Given the description of an element on the screen output the (x, y) to click on. 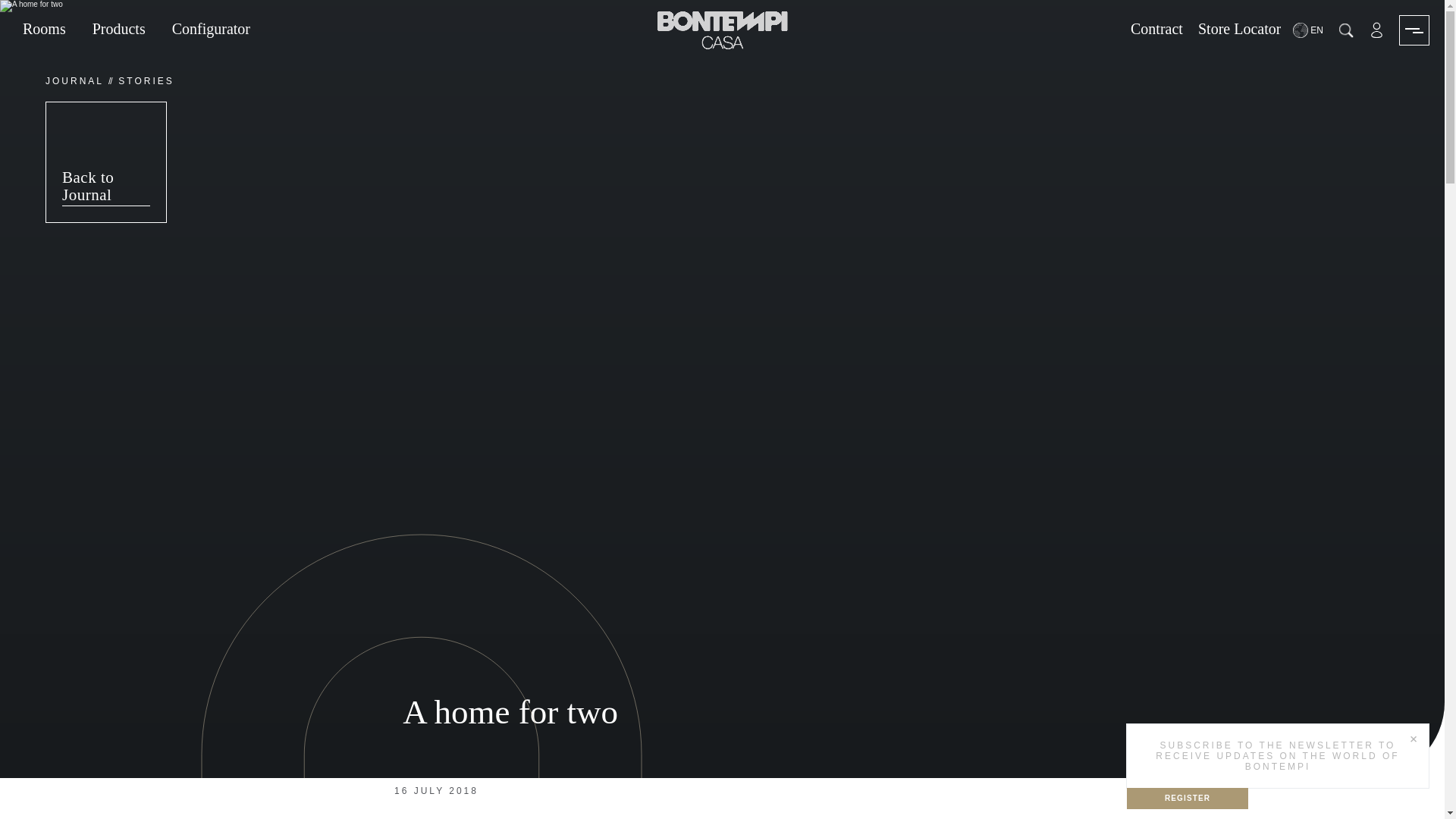
Store Locator (1239, 29)
EN (1309, 30)
Products (118, 29)
Configurator (210, 29)
Search (1345, 30)
Contract (1156, 29)
Reserved Area (1376, 30)
Rooms (44, 29)
